Given the description of an element on the screen output the (x, y) to click on. 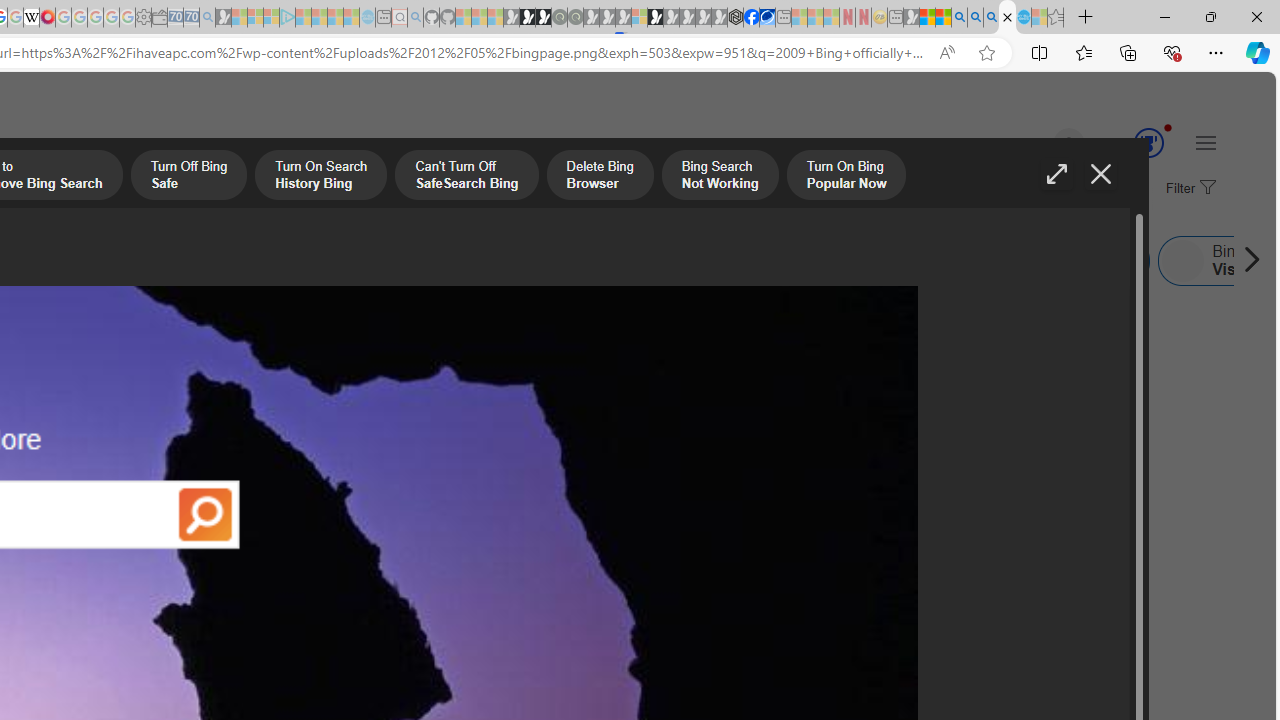
AutomationID: serp_medal_svg (1148, 142)
Nordace | Facebook (751, 17)
github - Search - Sleeping (415, 17)
Class: item col (1069, 260)
Full screen (1055, 173)
Can't Turn Off SafeSearch Bing (466, 177)
MediaWiki (47, 17)
Scroll right (1246, 260)
